Given the description of an element on the screen output the (x, y) to click on. 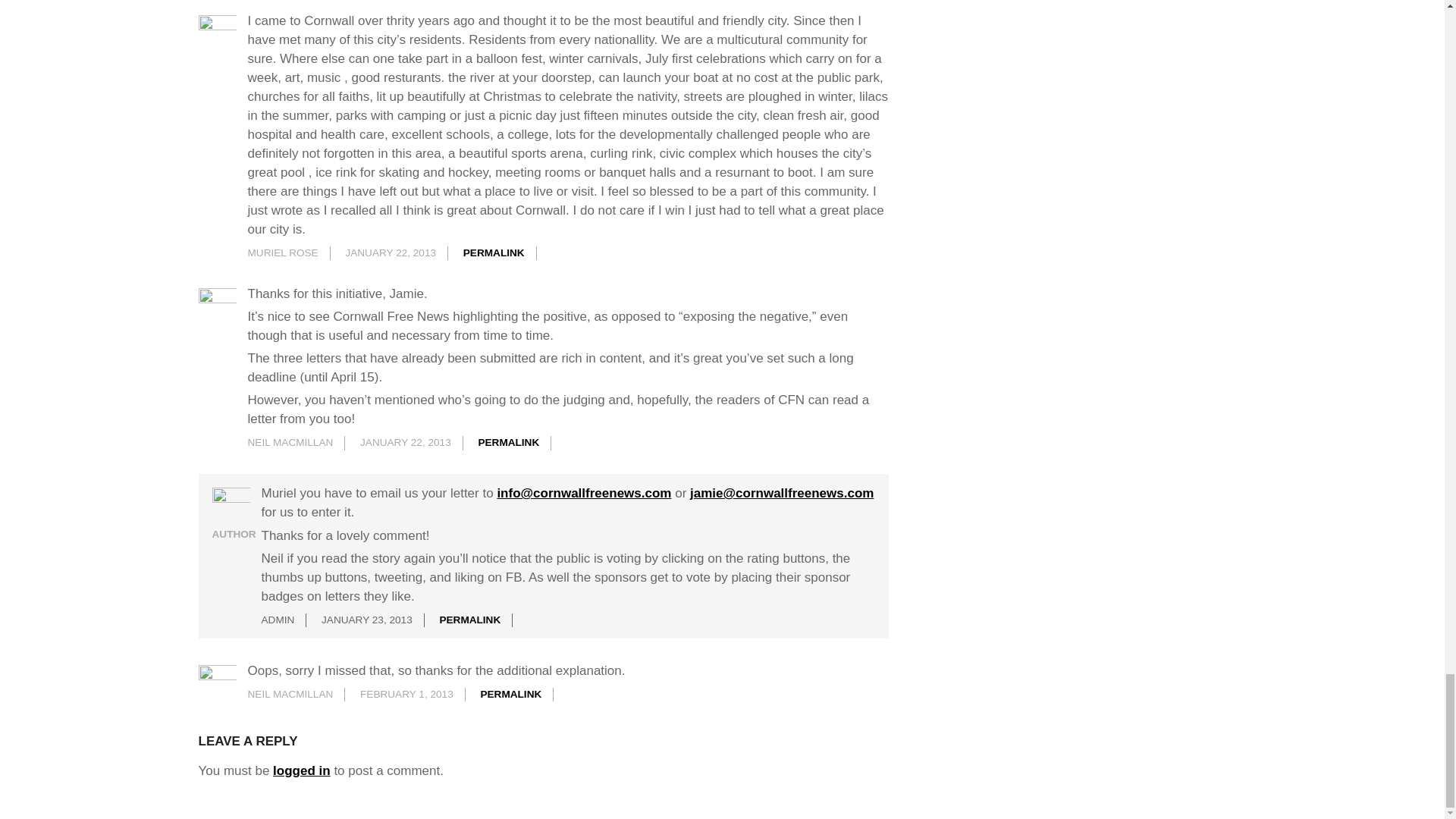
Tuesday, January 22, 2013, 4:53 pm (405, 441)
Friday, February 1, 2013, 2:12 am (405, 694)
Tuesday, January 22, 2013, 8:26 am (390, 252)
Wednesday, January 23, 2013, 12:18 pm (366, 619)
